Given the description of an element on the screen output the (x, y) to click on. 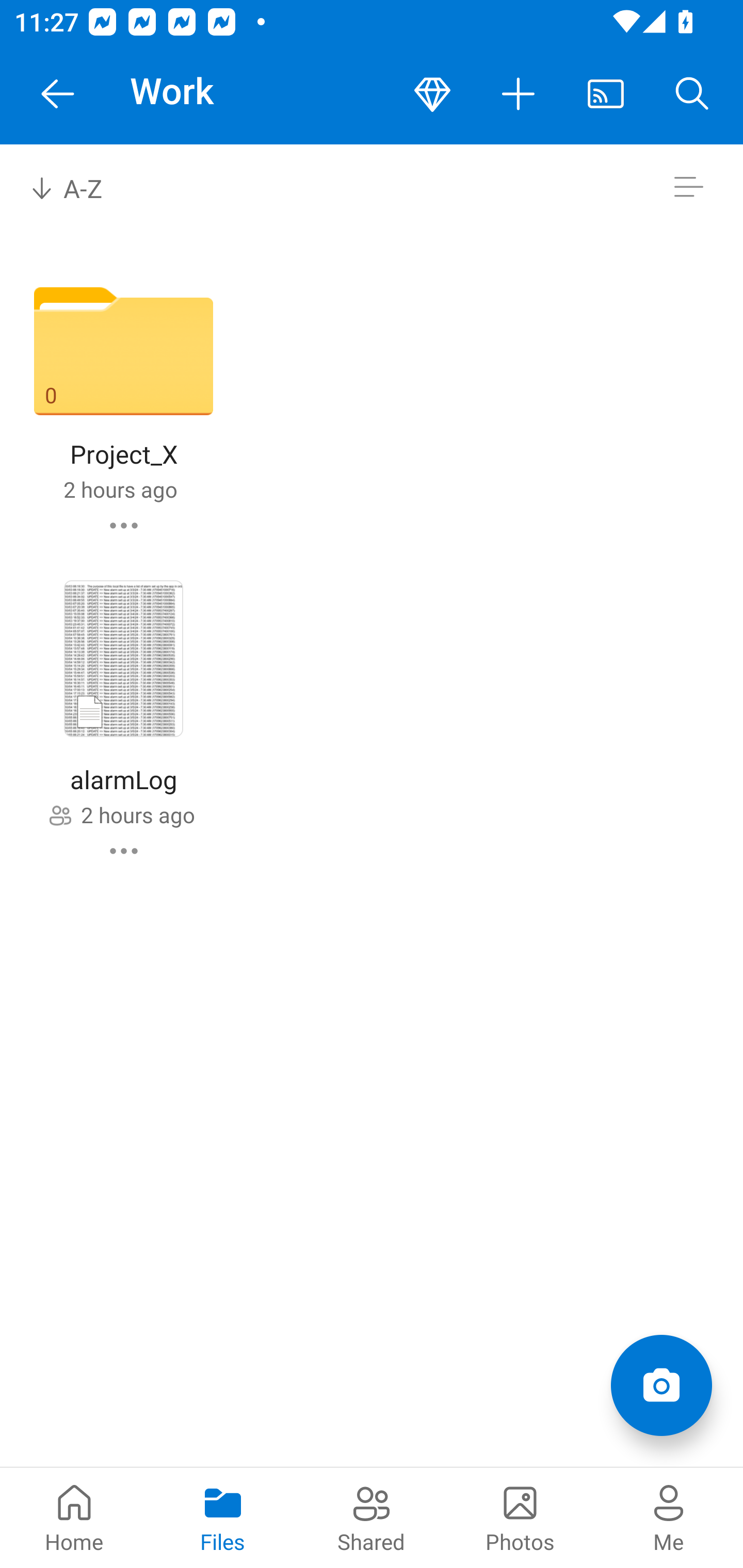
Navigate Up (57, 93)
Cast. Disconnected (605, 93)
Premium button (432, 93)
More actions button (518, 93)
Search button (692, 93)
A-Z Sort by combo box, sort by name, A to Z (80, 187)
Switch to list view (688, 187)
2 hours ago (119, 489)
Project_X commands (123, 525)
2 hours ago (137, 814)
alarmLog commands (123, 851)
Add items Scan (660, 1385)
Home pivot Home (74, 1517)
Shared pivot Shared (371, 1517)
Photos pivot Photos (519, 1517)
Me pivot Me (668, 1517)
